Given the description of an element on the screen output the (x, y) to click on. 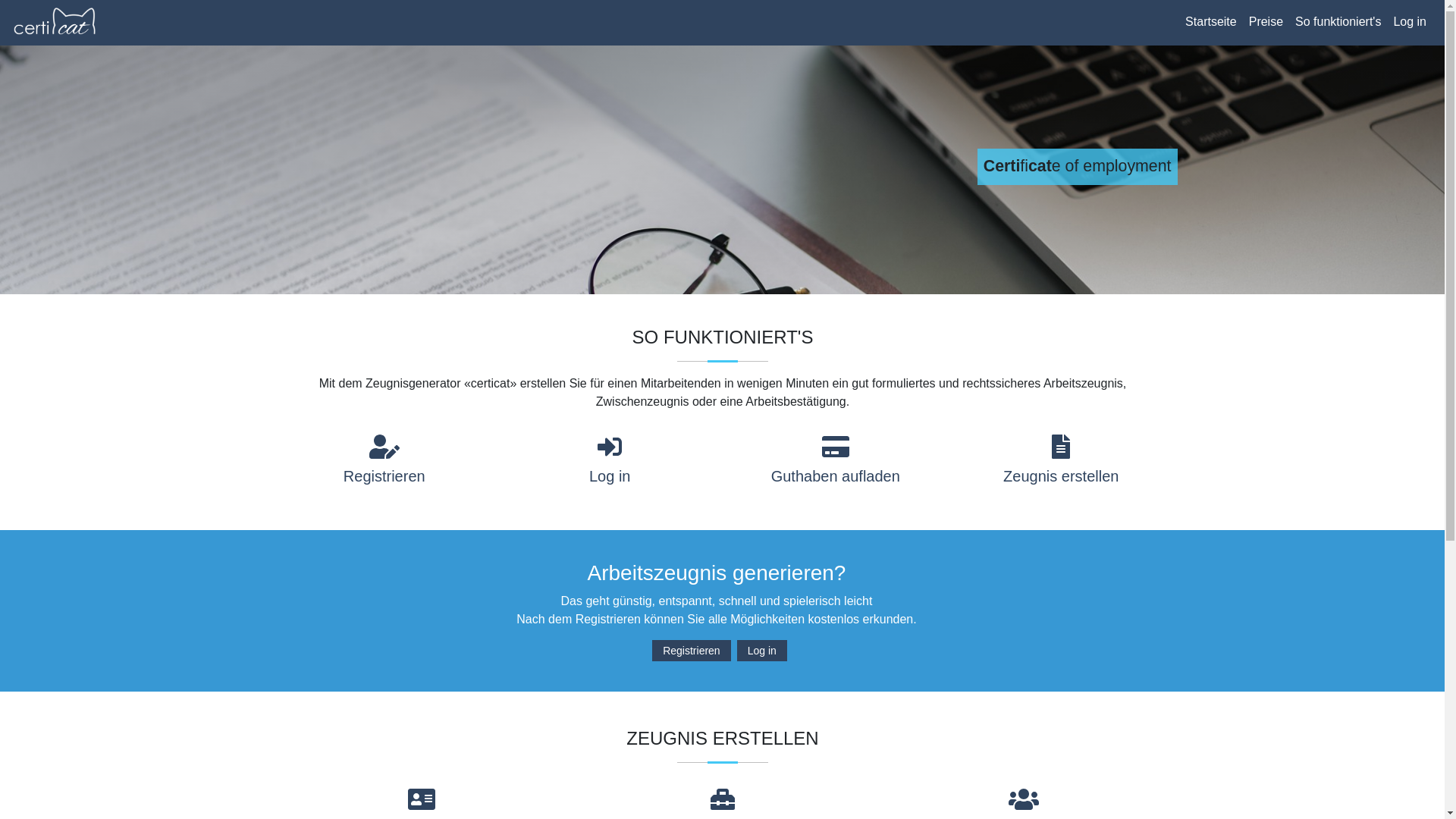
Log in Element type: text (762, 650)
Registrieren Element type: text (691, 650)
